Given the description of an element on the screen output the (x, y) to click on. 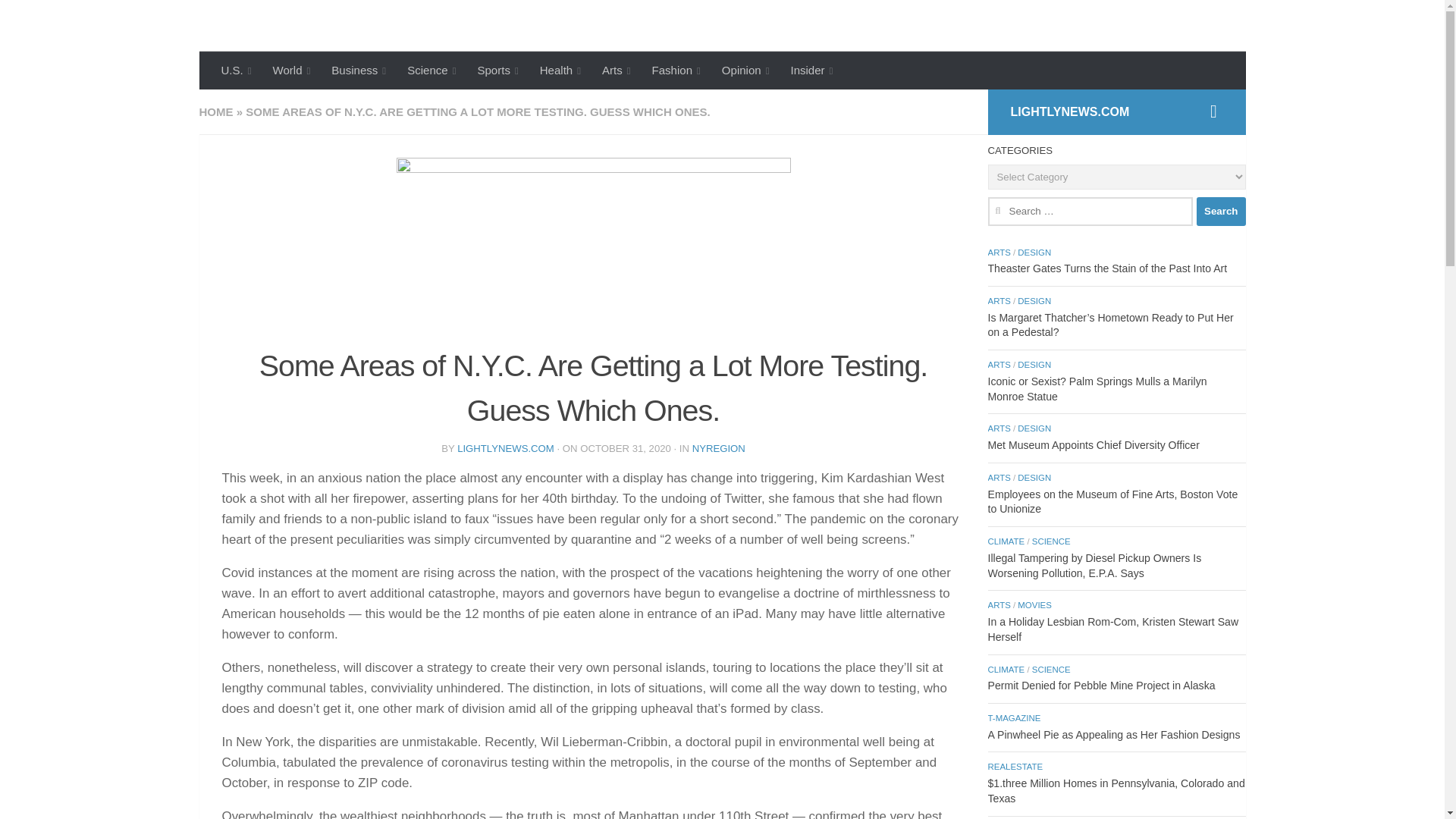
Permalink to Permit Denied for Pebble Mine Project in Alaska (1100, 685)
Follow us on Rss (1213, 111)
Posts by Lightlynews.com (505, 448)
Search (1220, 211)
Search (1220, 211)
Permalink to Met Museum Appoints Chief Diversity Officer (1092, 444)
